Given the description of an element on the screen output the (x, y) to click on. 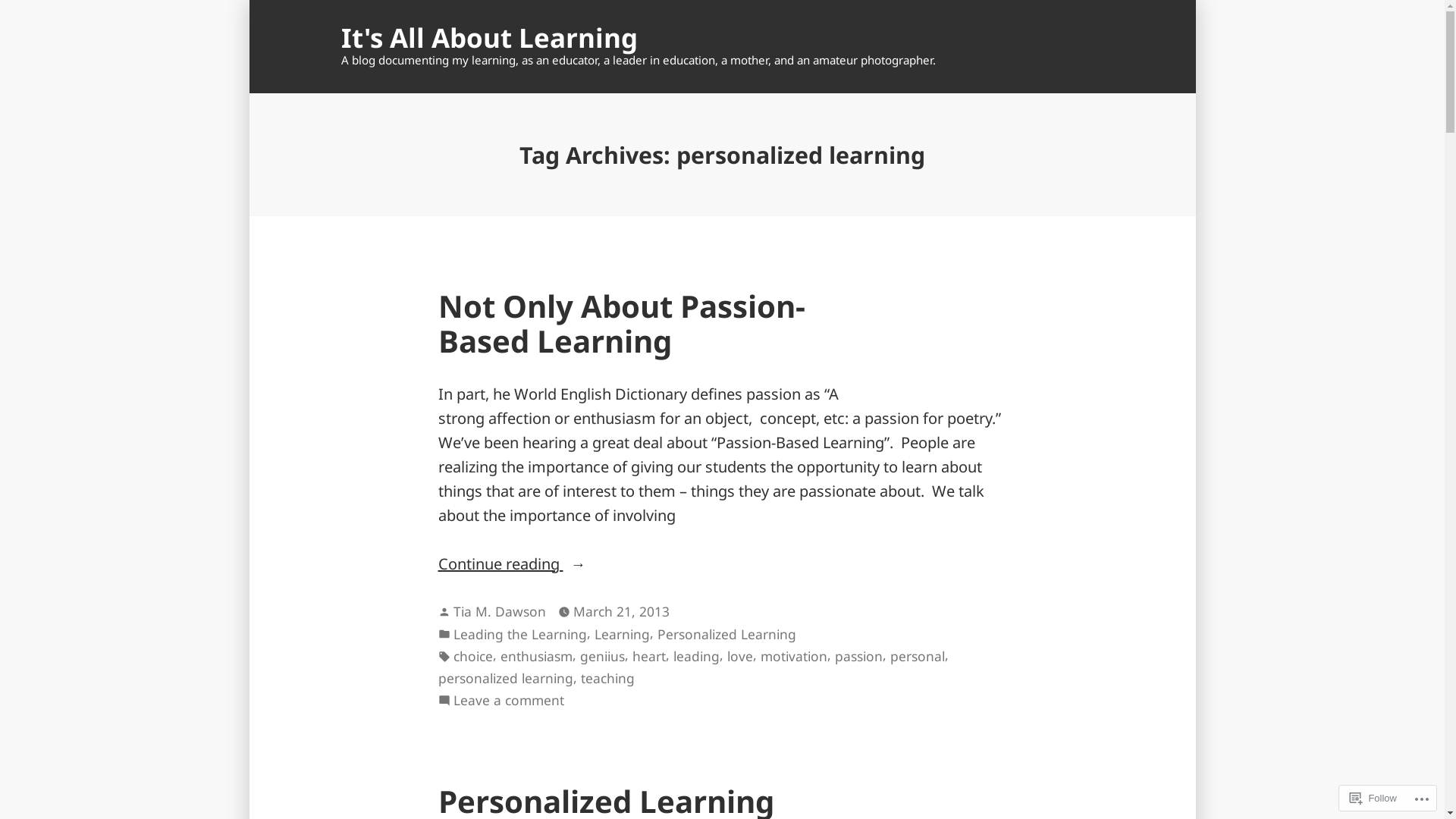
heart Element type: text (648, 656)
enthusiasm Element type: text (536, 656)
Leave a comment Element type: text (508, 700)
It's All About Learning Element type: text (489, 37)
March 21, 2013 Element type: text (621, 611)
leading Element type: text (696, 656)
passion Element type: text (857, 656)
personalized learning Element type: text (505, 678)
Learning Element type: text (621, 634)
teaching Element type: text (607, 678)
motivation Element type: text (792, 656)
personal Element type: text (917, 656)
Not Only About Passion-Based Learning Element type: text (621, 322)
Personalized Learning Element type: text (725, 634)
Leading the Learning Element type: text (519, 634)
Follow Element type: text (1372, 797)
geniius Element type: text (601, 656)
choice Element type: text (472, 656)
love Element type: text (739, 656)
Continue reading Element type: text (722, 564)
Tia M. Dawson Element type: text (499, 611)
